Given the description of an element on the screen output the (x, y) to click on. 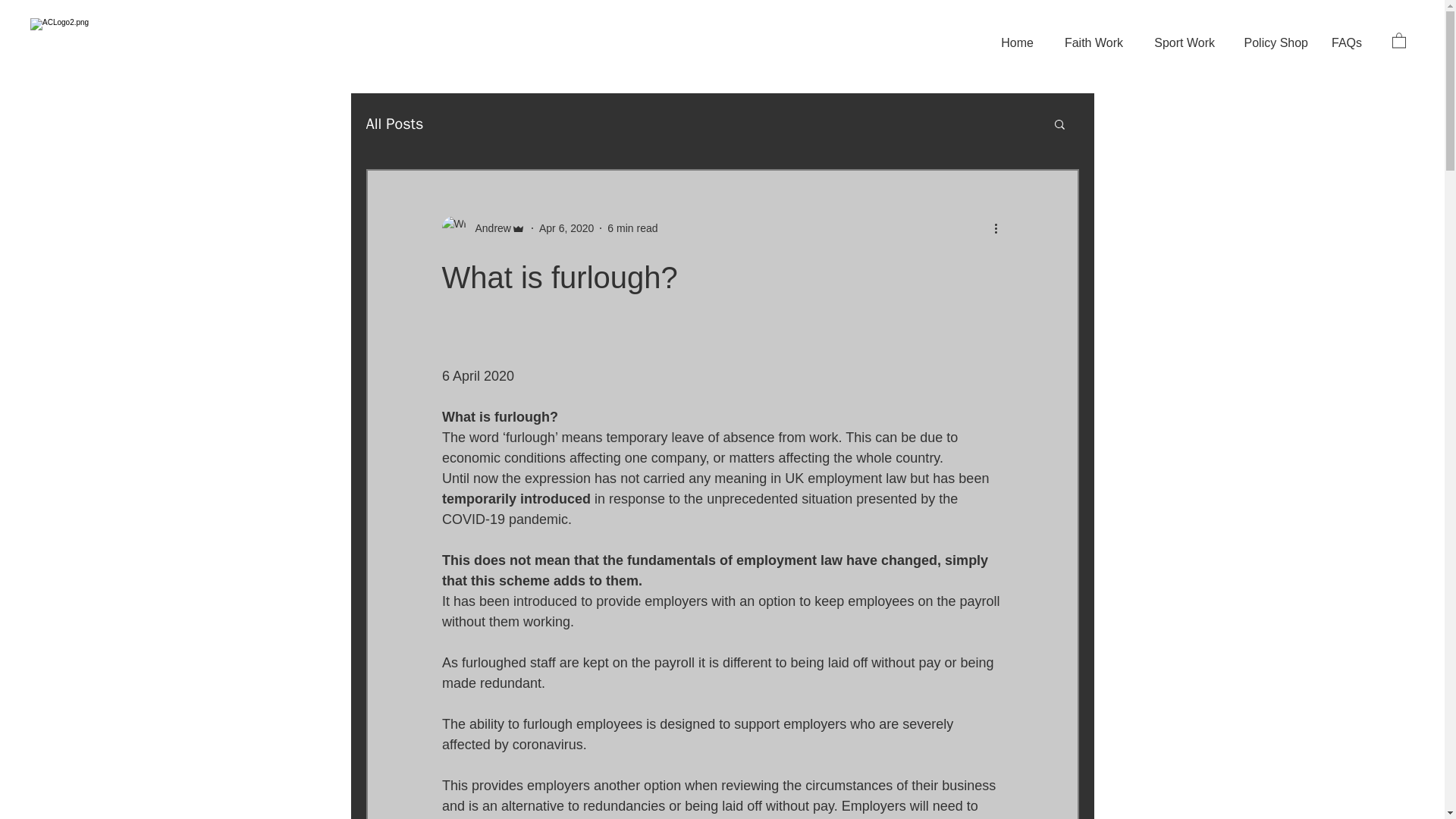
All Posts (394, 123)
6 min read (632, 227)
Apr 6, 2020 (566, 227)
Home (1014, 43)
Faith Work (1089, 43)
Andrew (488, 228)
Policy Shop (1272, 43)
Andrew (482, 228)
FAQs (1346, 43)
Sport Work (1179, 43)
